Given the description of an element on the screen output the (x, y) to click on. 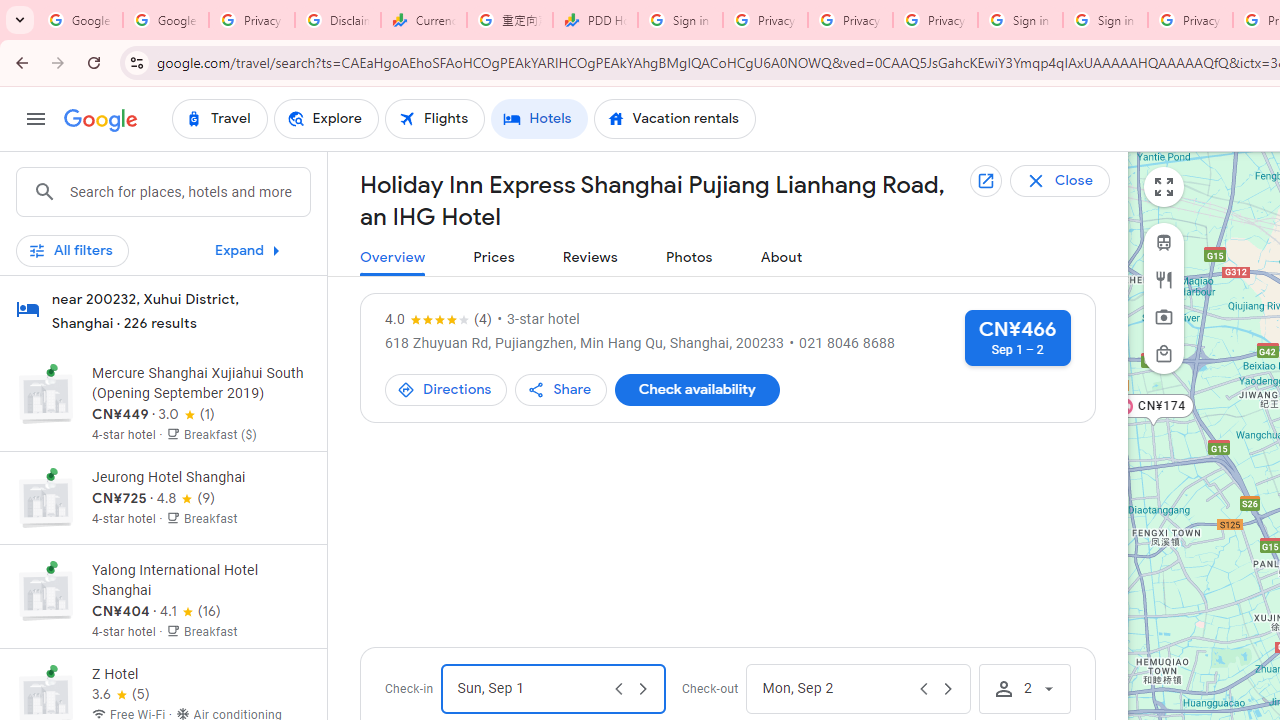
Explore (325, 118)
Check availability (696, 389)
Directions (446, 389)
View larger map (1164, 187)
